Given the description of an element on the screen output the (x, y) to click on. 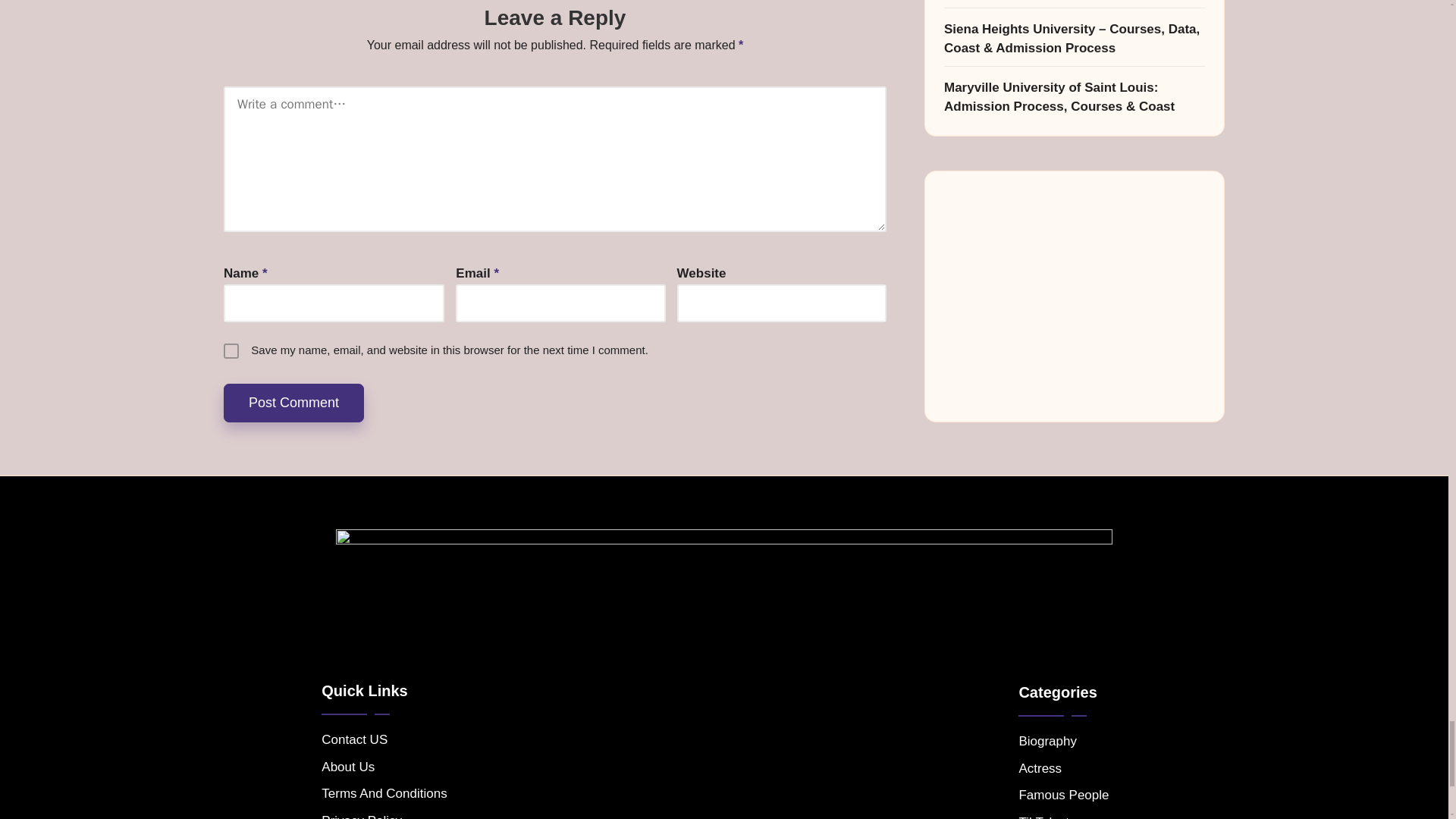
yes (231, 350)
Post Comment (294, 403)
